Given the description of an element on the screen output the (x, y) to click on. 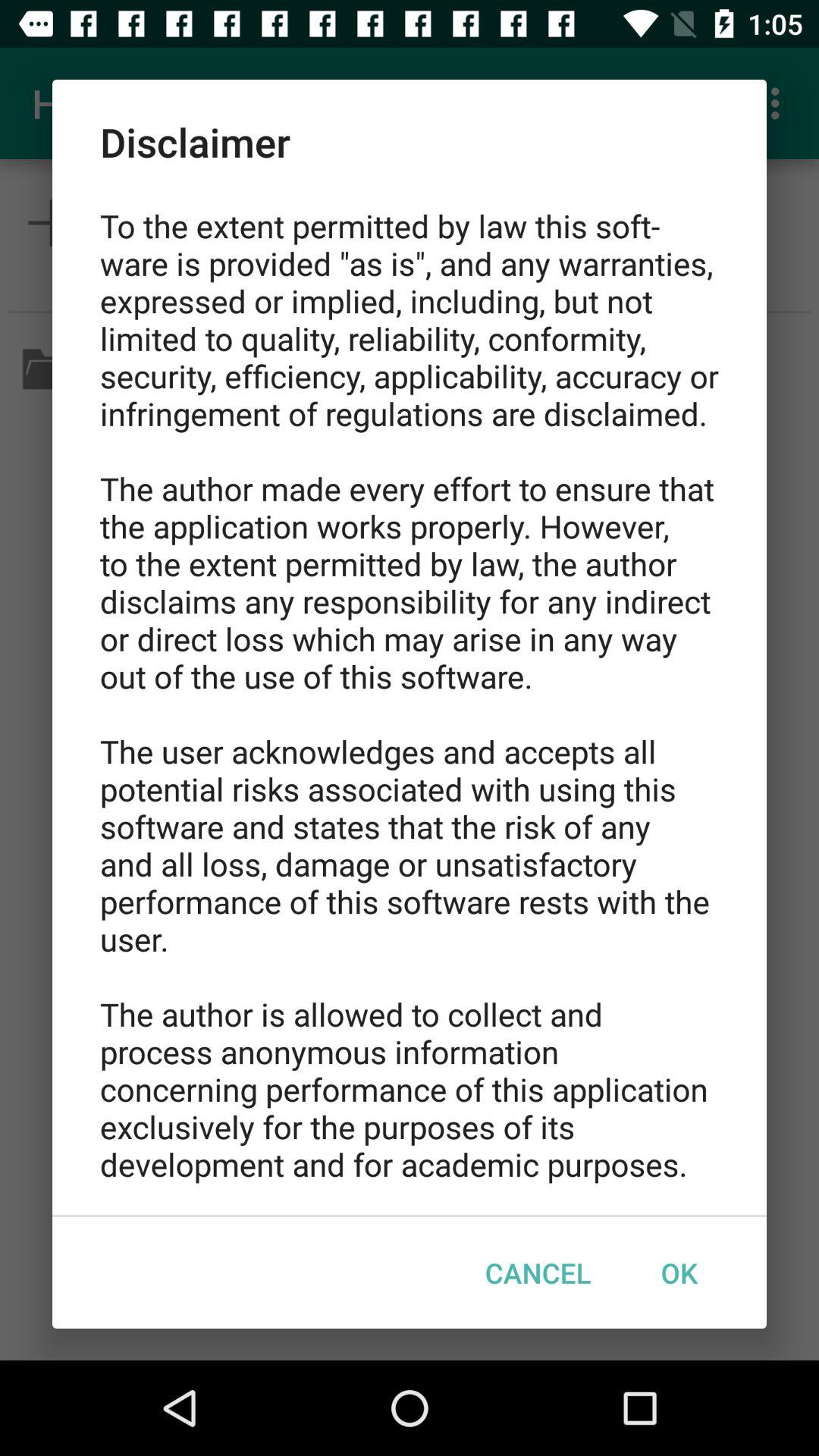
select item below to the extent item (678, 1272)
